Given the description of an element on the screen output the (x, y) to click on. 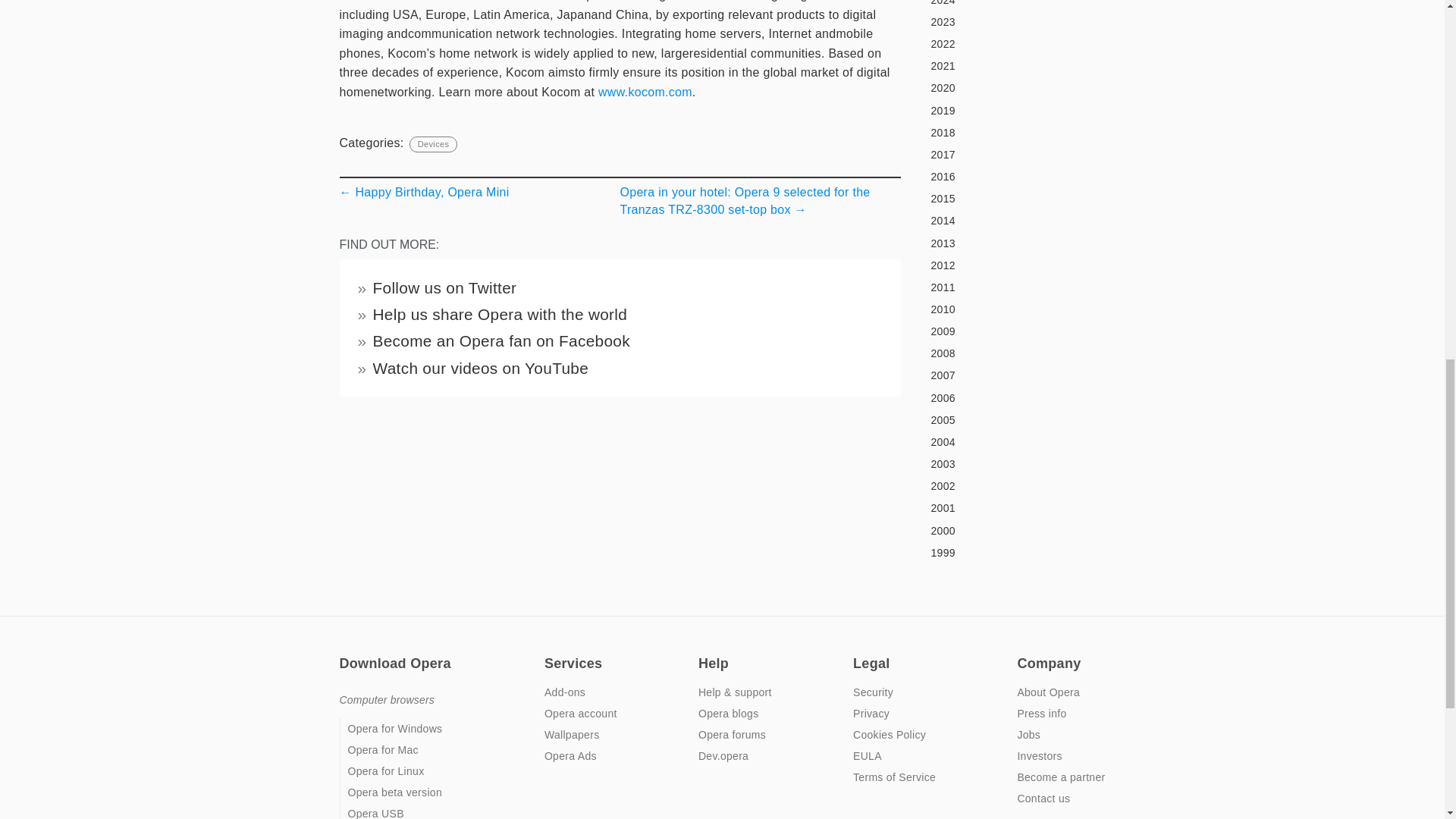
2020 (1014, 88)
Become an Opera fan on Facebook (501, 340)
2022 (1014, 45)
Watch our videos on YouTube (480, 367)
www.kocom.com (645, 91)
2019 (1014, 110)
2024 (1014, 4)
Devices (433, 144)
2023 (1014, 22)
2018 (1014, 132)
Help us share Opera with the world (499, 313)
2021 (1014, 66)
Follow us on Twitter (444, 287)
